Given the description of an element on the screen output the (x, y) to click on. 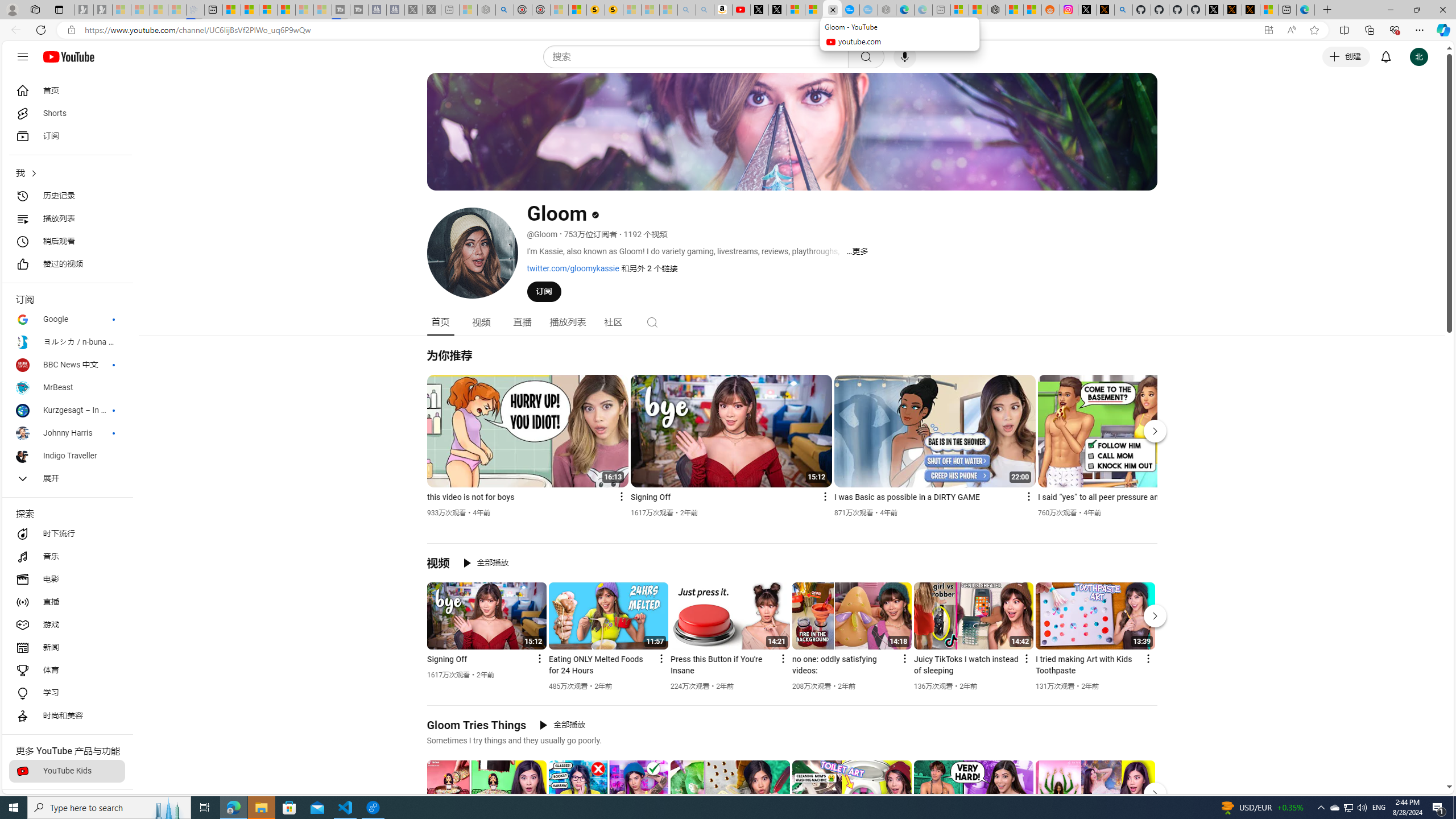
New Tab (1327, 9)
Personal Profile (12, 9)
Read aloud this page (Ctrl+Shift+U) (1291, 29)
help.x.com | 524: A timeout occurred (1105, 9)
Back (13, 29)
X - Sleeping (431, 9)
Copilot (Ctrl+Shift+.) (1442, 29)
